Given the description of an element on the screen output the (x, y) to click on. 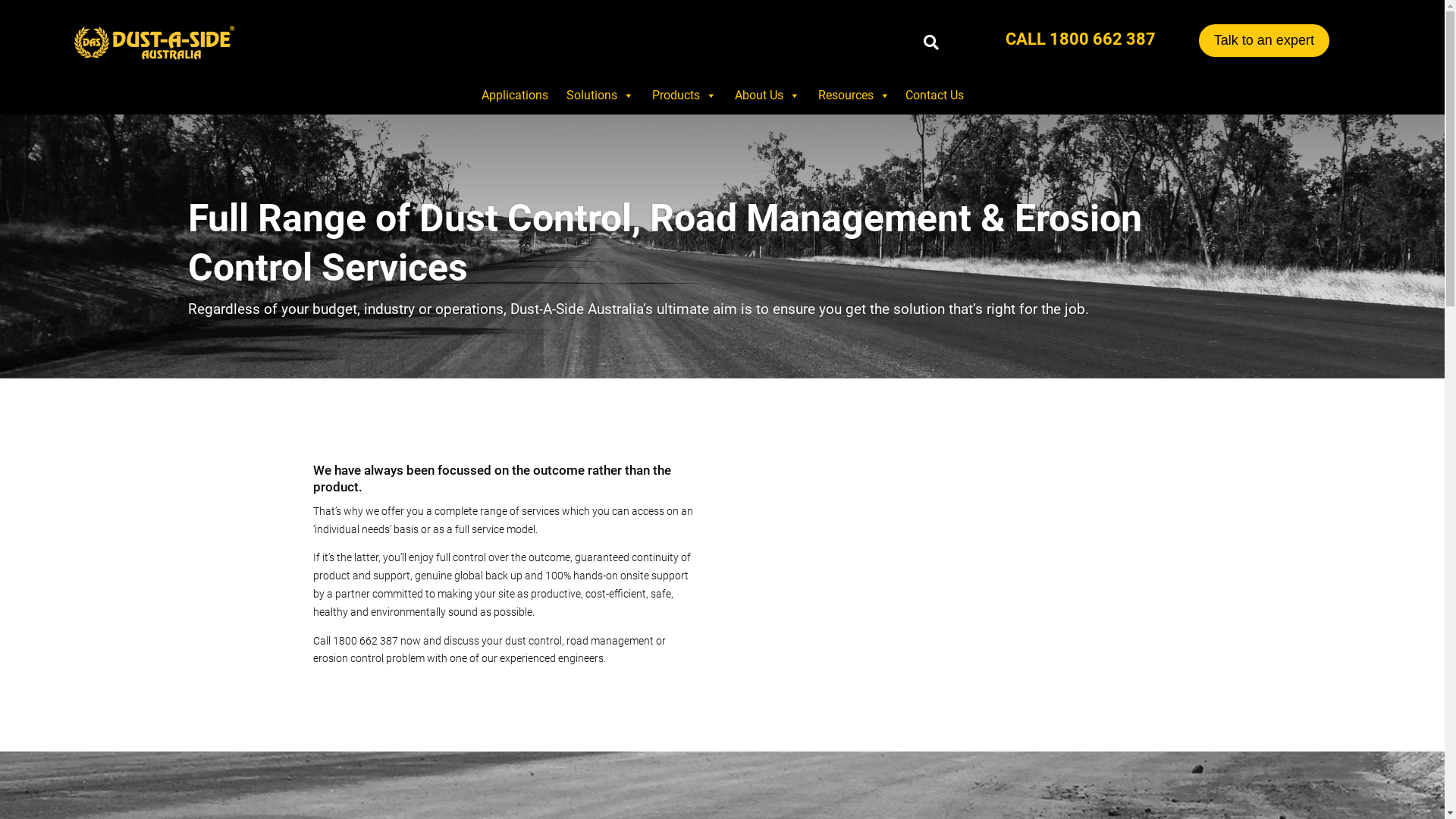
Solutions Element type: text (597, 95)
Resources Element type: text (851, 95)
Products Element type: text (682, 95)
Dust-a-side-logo Element type: hover (153, 42)
Talk to an expert Element type: text (1263, 40)
Applications Element type: text (514, 95)
About Us Element type: text (764, 95)
Contact Us Element type: text (934, 95)
